Given the description of an element on the screen output the (x, y) to click on. 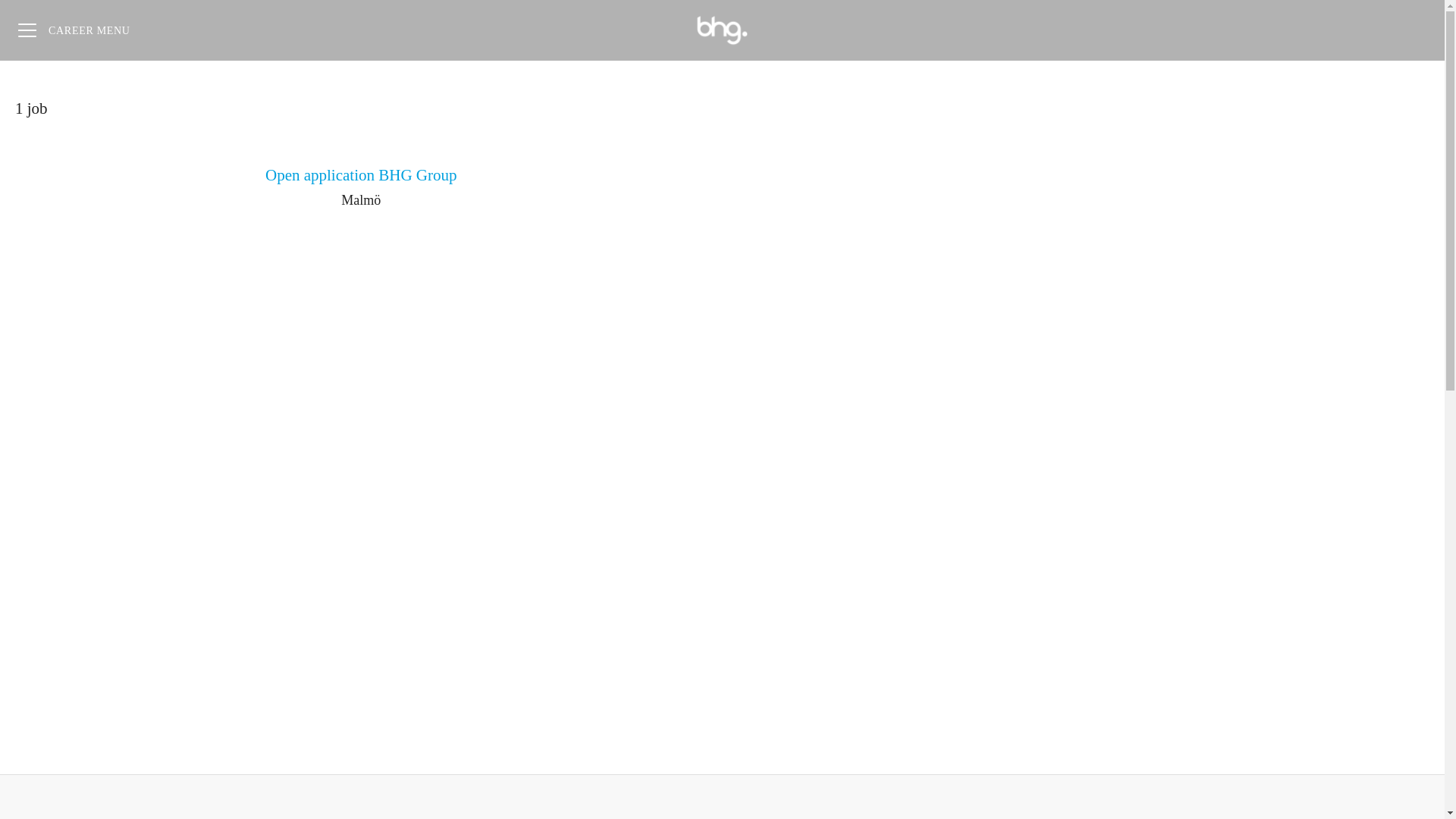
Open application BHG Group (360, 175)
Share page (1414, 30)
Career menu (73, 30)
CAREER MENU (73, 30)
